Given the description of an element on the screen output the (x, y) to click on. 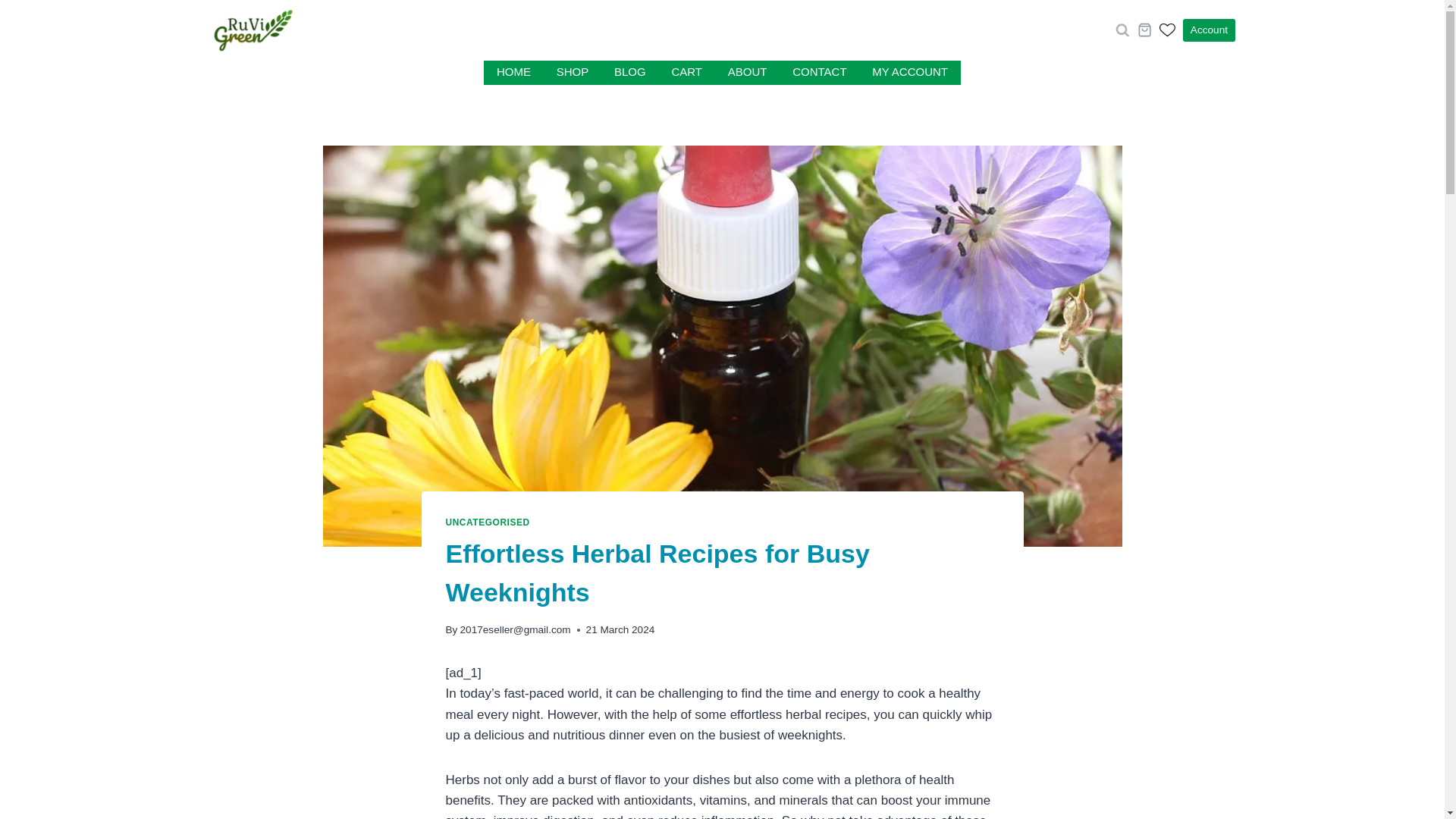
RuVi Green (311, 30)
CONTACT (818, 72)
HOME (513, 72)
Account (1208, 29)
BLOG (629, 72)
CART (686, 72)
ABOUT (746, 72)
MY ACCOUNT (909, 72)
UNCATEGORISED (487, 521)
SHOP (572, 72)
